Given the description of an element on the screen output the (x, y) to click on. 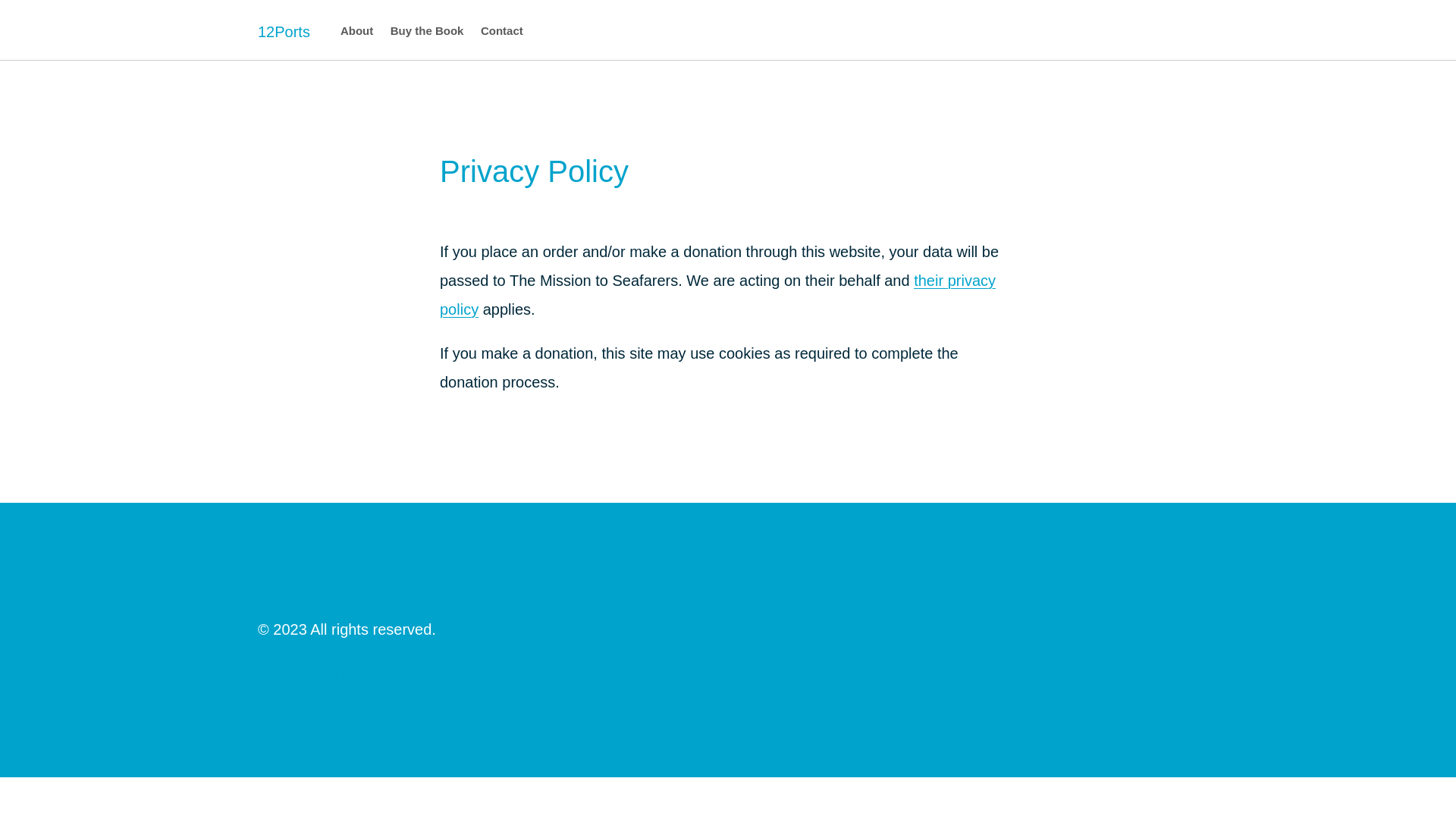
https://www.facebook.com/12ports/ Element type: text (282, 606)
Buy the Book Element type: text (427, 31)
Design by TigerFinch Element type: text (328, 651)
https://twitter.com/yachtnova Element type: text (266, 606)
About Element type: text (356, 31)
Privacy Policy Element type: text (727, 674)
Contact Element type: text (501, 31)
their privacy policy Element type: text (717, 294)
https://www.instagram.com/yachtnova/ Element type: text (298, 606)
12Ports Element type: text (283, 31)
